Given the description of an element on the screen output the (x, y) to click on. 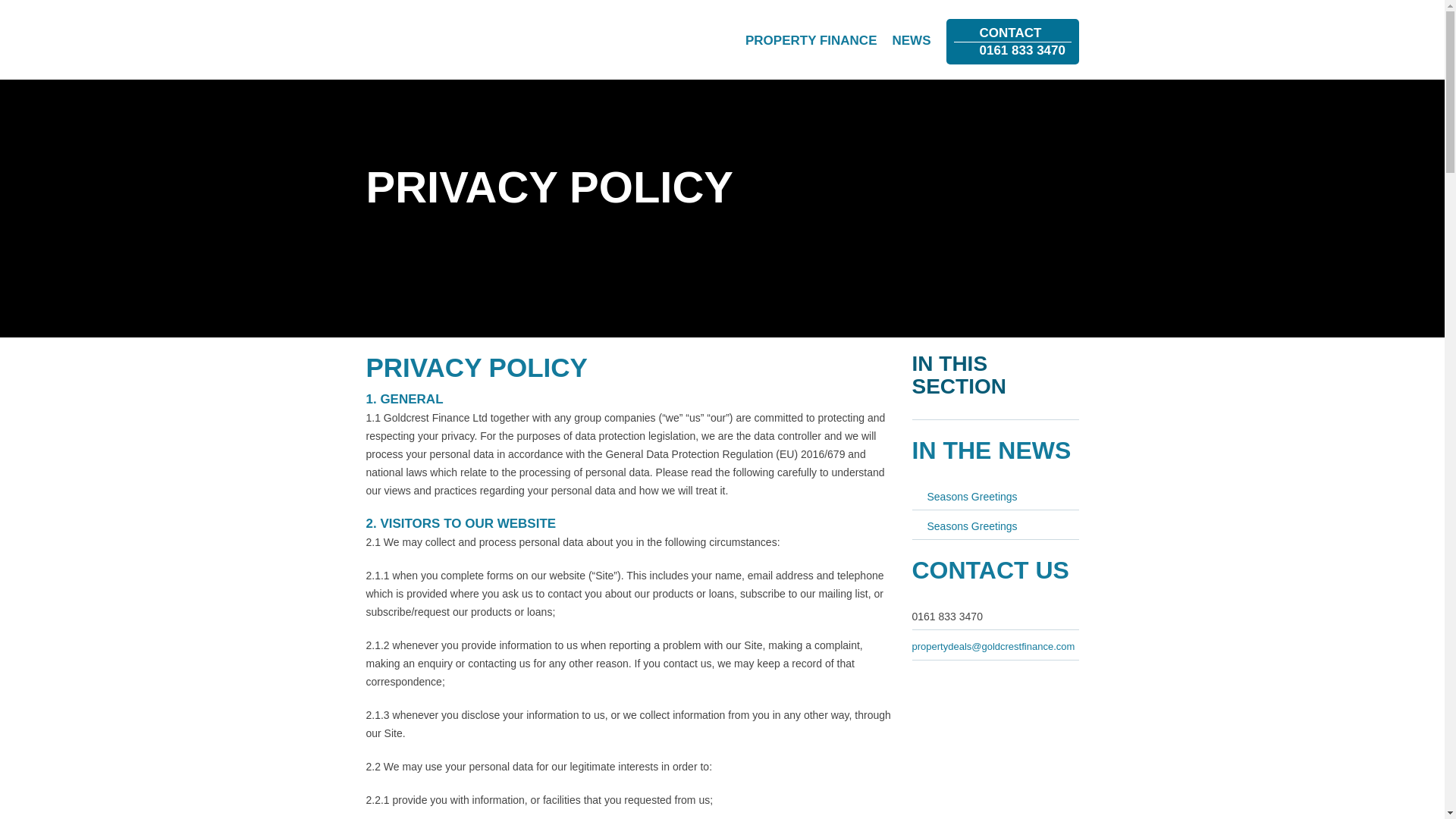
NEWS (910, 40)
GOLDCREST (1012, 41)
Seasons Greetings (432, 36)
Seasons Greetings (963, 526)
PROPERTY FINANCE (963, 496)
